Given the description of an element on the screen output the (x, y) to click on. 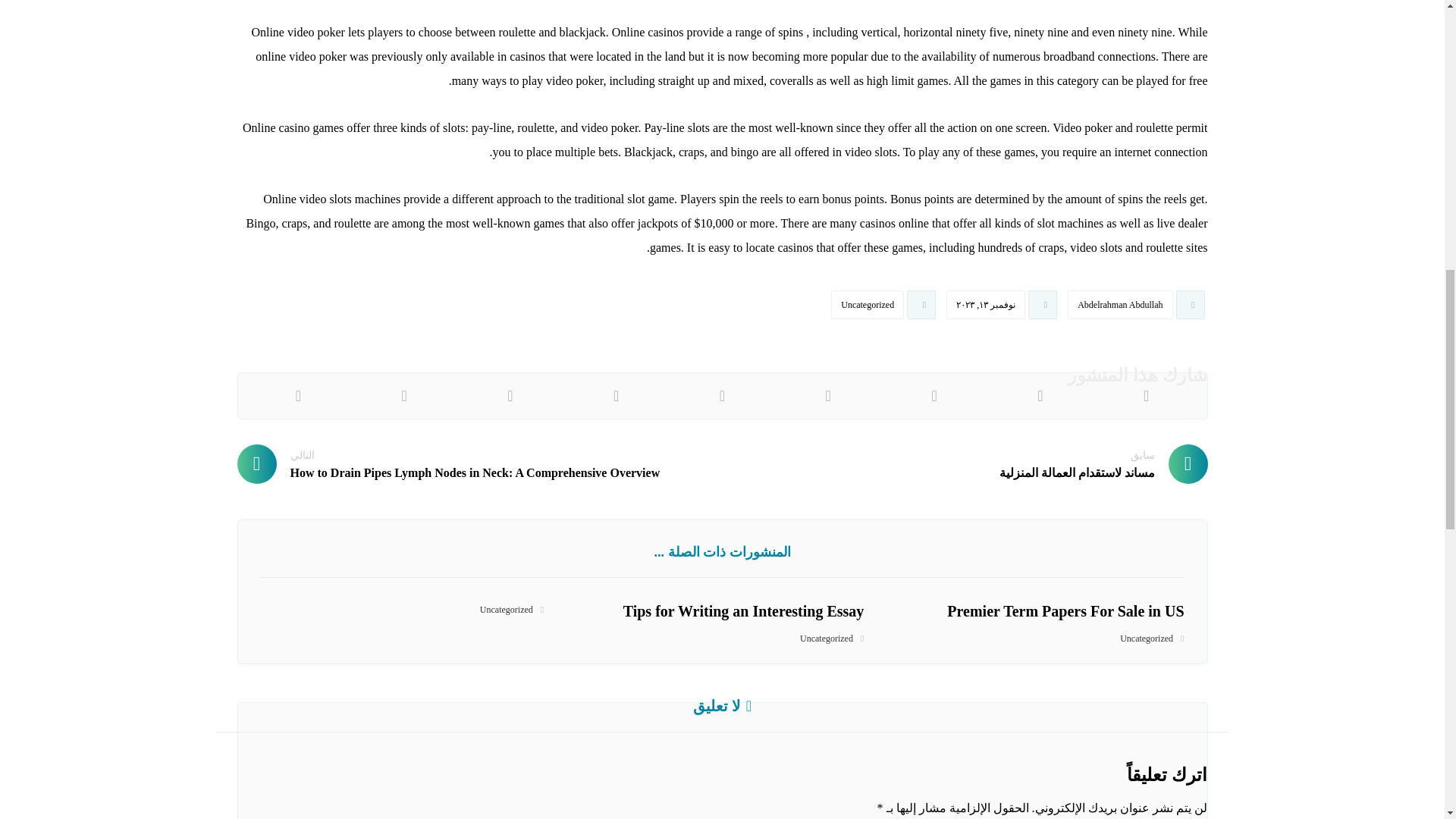
Uncategorized (867, 304)
Posted by (1137, 308)
Abdelrahman Abdullah (1119, 304)
Published on (1002, 308)
